Given the description of an element on the screen output the (x, y) to click on. 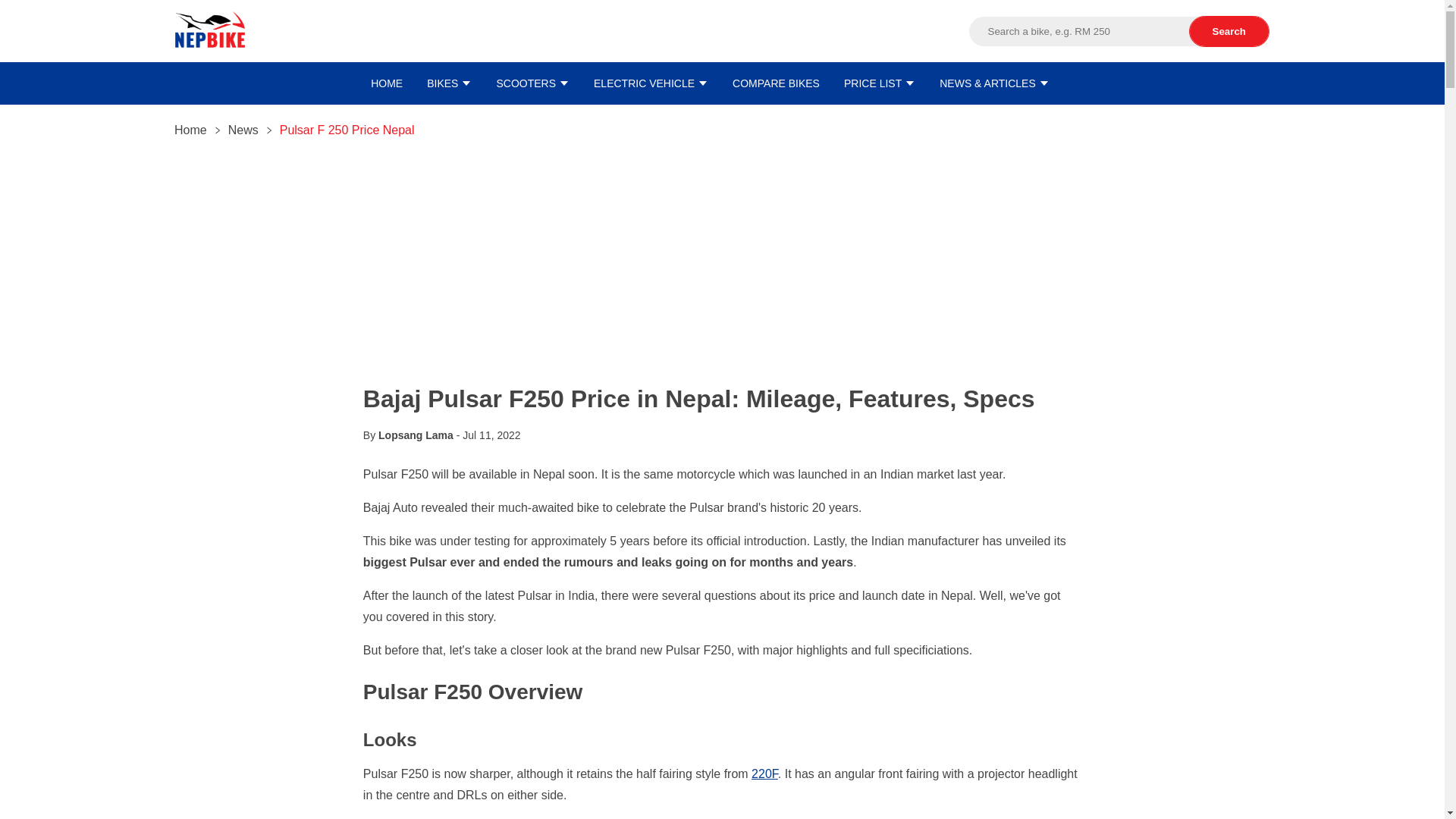
COMPARE BIKES (775, 83)
Home (190, 130)
Search (1229, 30)
